Given the description of an element on the screen output the (x, y) to click on. 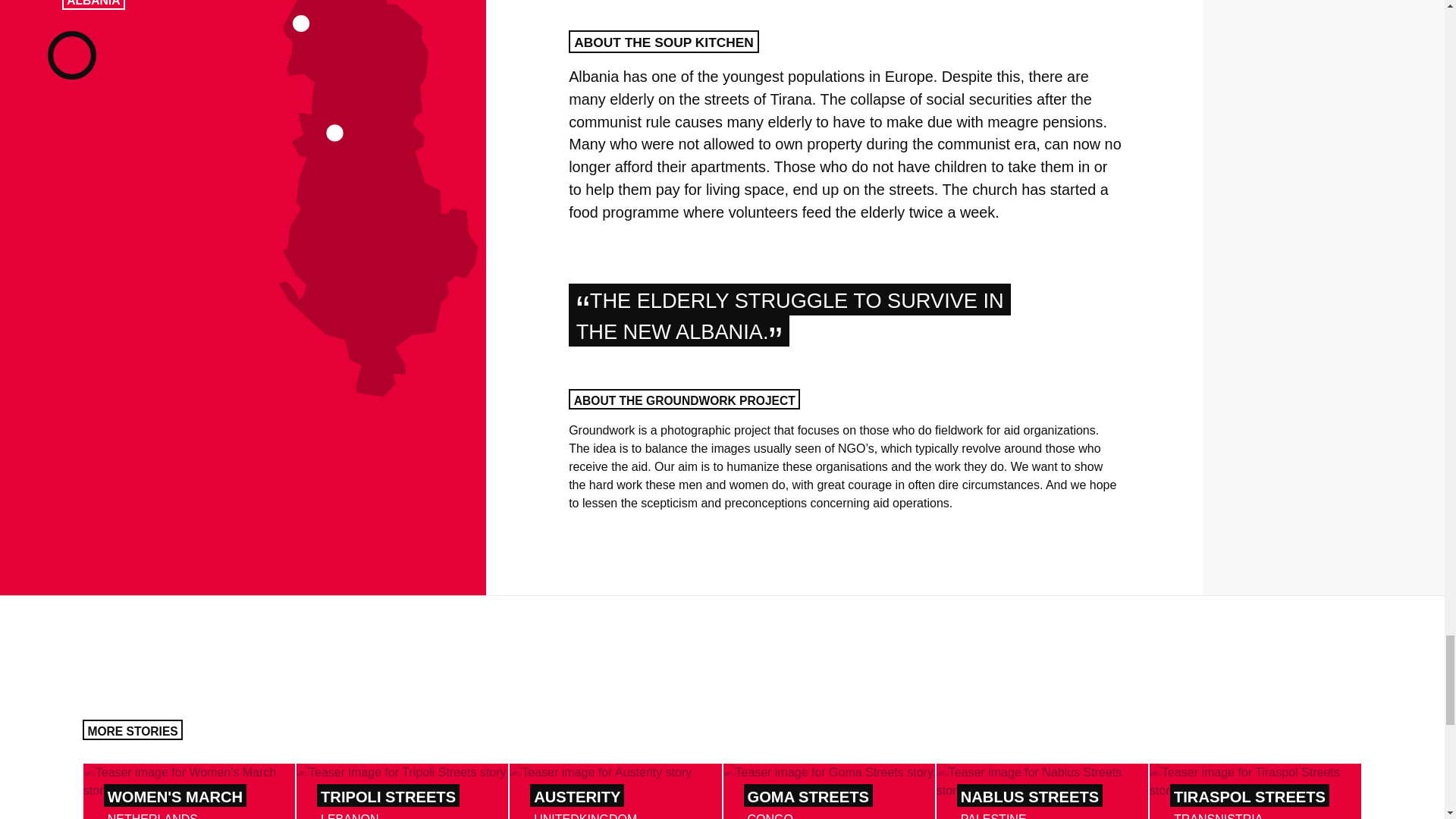
Go to Tripoli Streets story (614, 791)
Go to Austerity story (188, 791)
Go to Nablus Streets story (1255, 791)
Go to Women's March story (402, 791)
Go to Goma Streets story (402, 791)
